Given the description of an element on the screen output the (x, y) to click on. 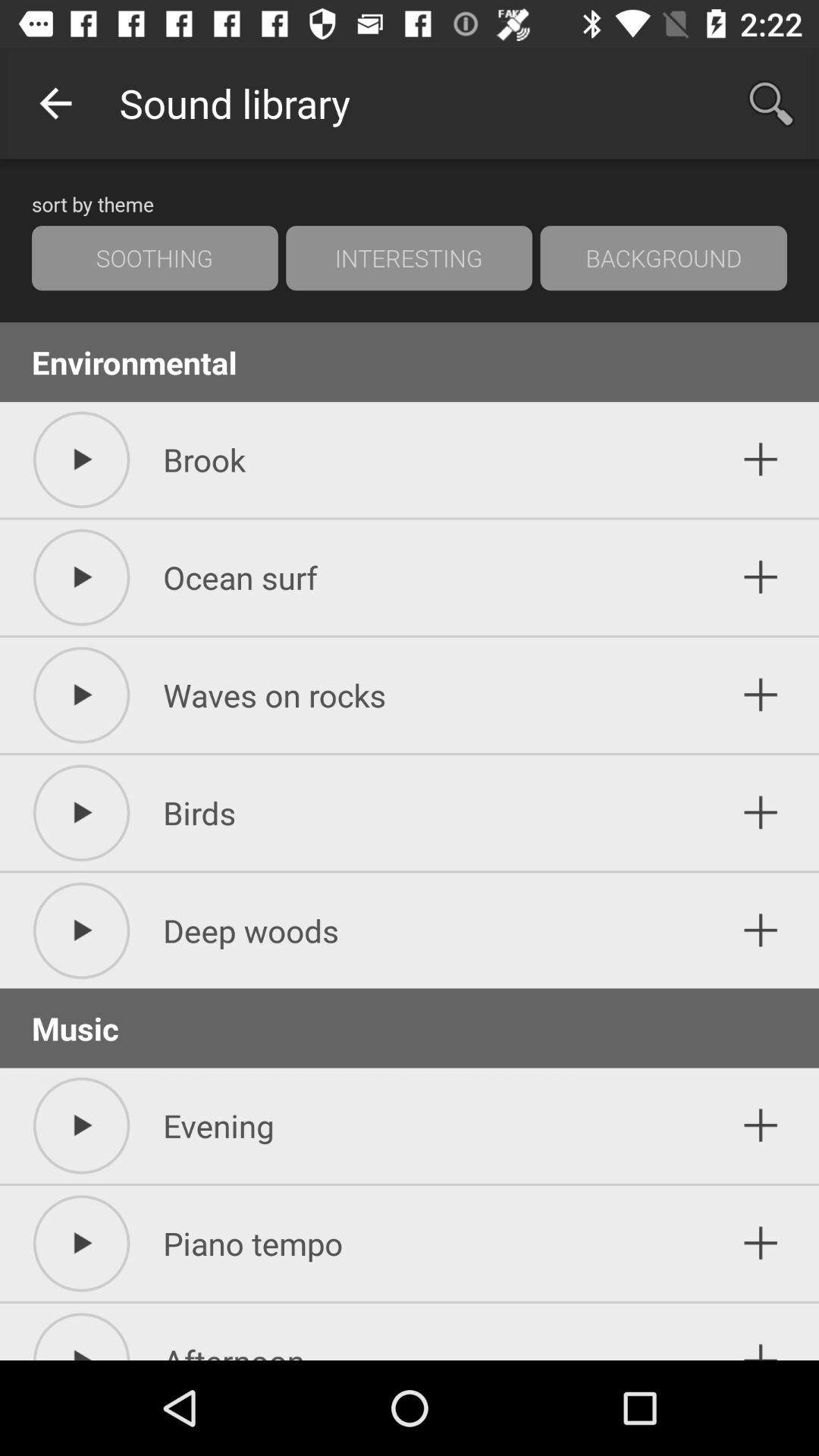
click the item next to the background icon (409, 257)
